Given the description of an element on the screen output the (x, y) to click on. 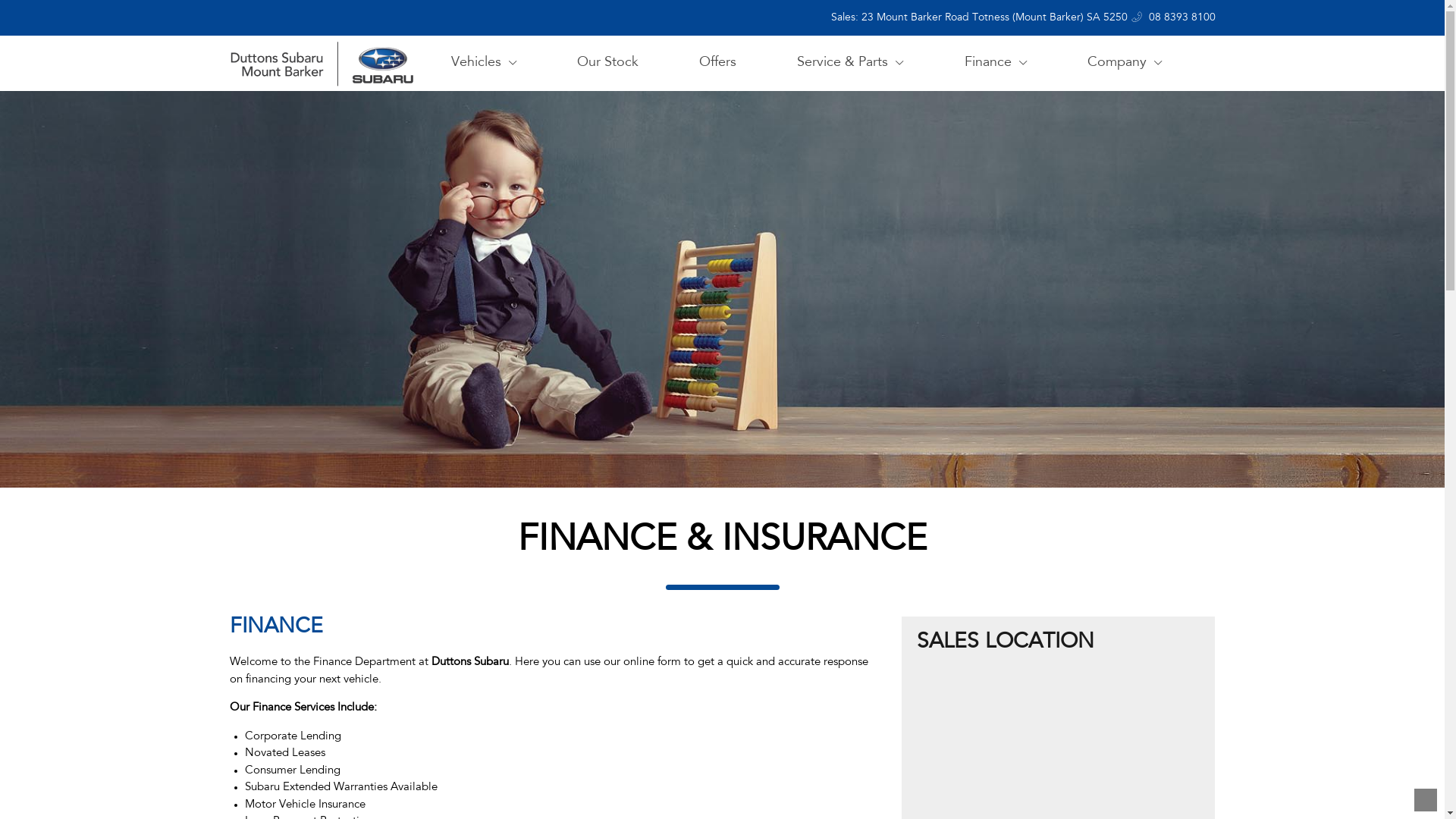
Company Element type: text (1124, 63)
Finance Element type: text (995, 63)
Our Stock Element type: text (607, 63)
Sales: 23 Mount Barker Road Totness (Mount Barker) SA 5250 Element type: text (970, 17)
08 8393 8100 Element type: text (1173, 17)
Service & Parts Element type: text (849, 63)
Offers Element type: text (717, 63)
Vehicles Element type: text (482, 63)
